Given the description of an element on the screen output the (x, y) to click on. 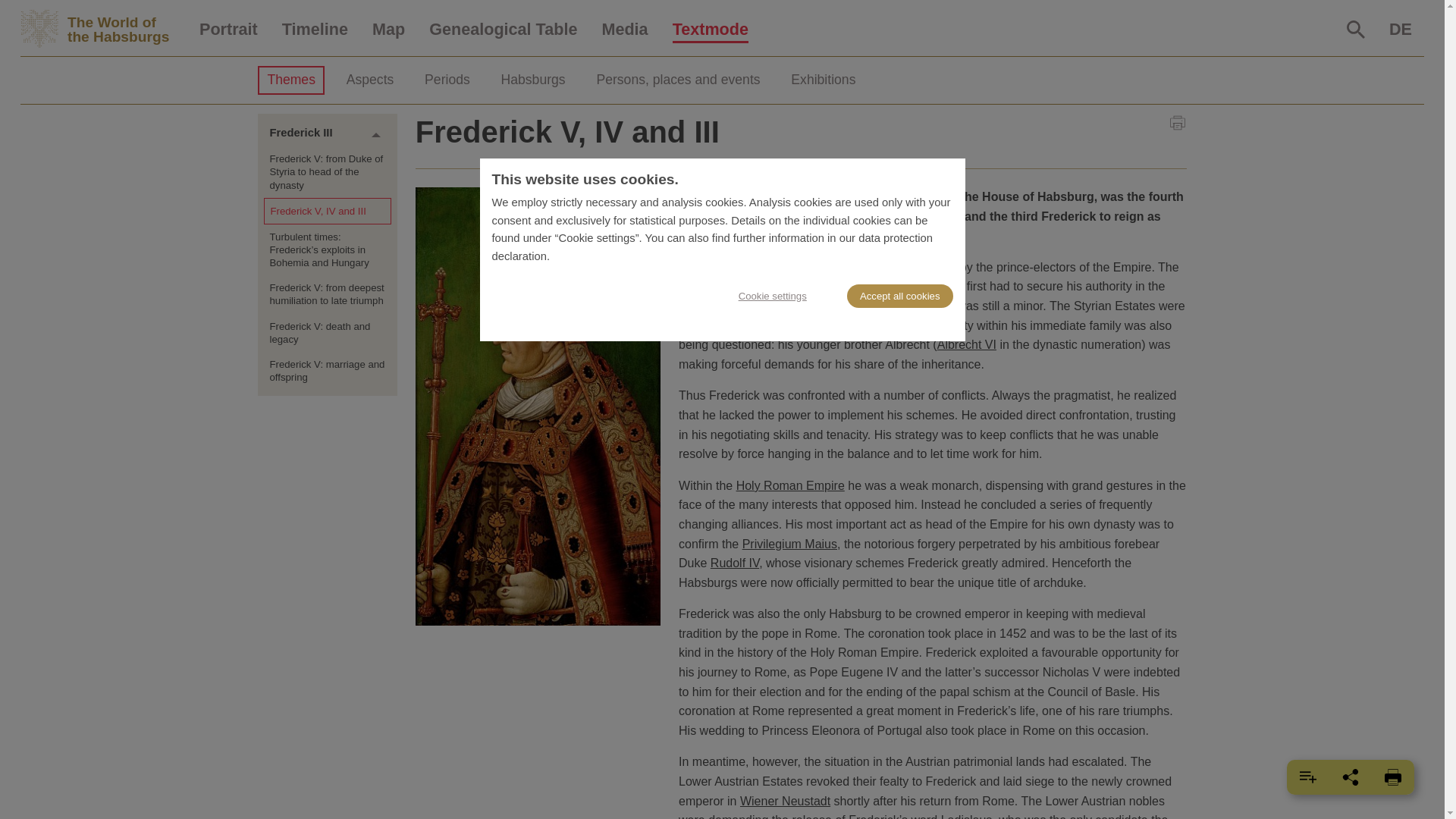
Media (624, 29)
DE (1400, 29)
Textmode (710, 29)
Map (387, 29)
Portrait (228, 29)
Genealogical Table (502, 29)
search (1355, 29)
search (103, 29)
Die Welt der Habsburger Home (1356, 29)
